Given the description of an element on the screen output the (x, y) to click on. 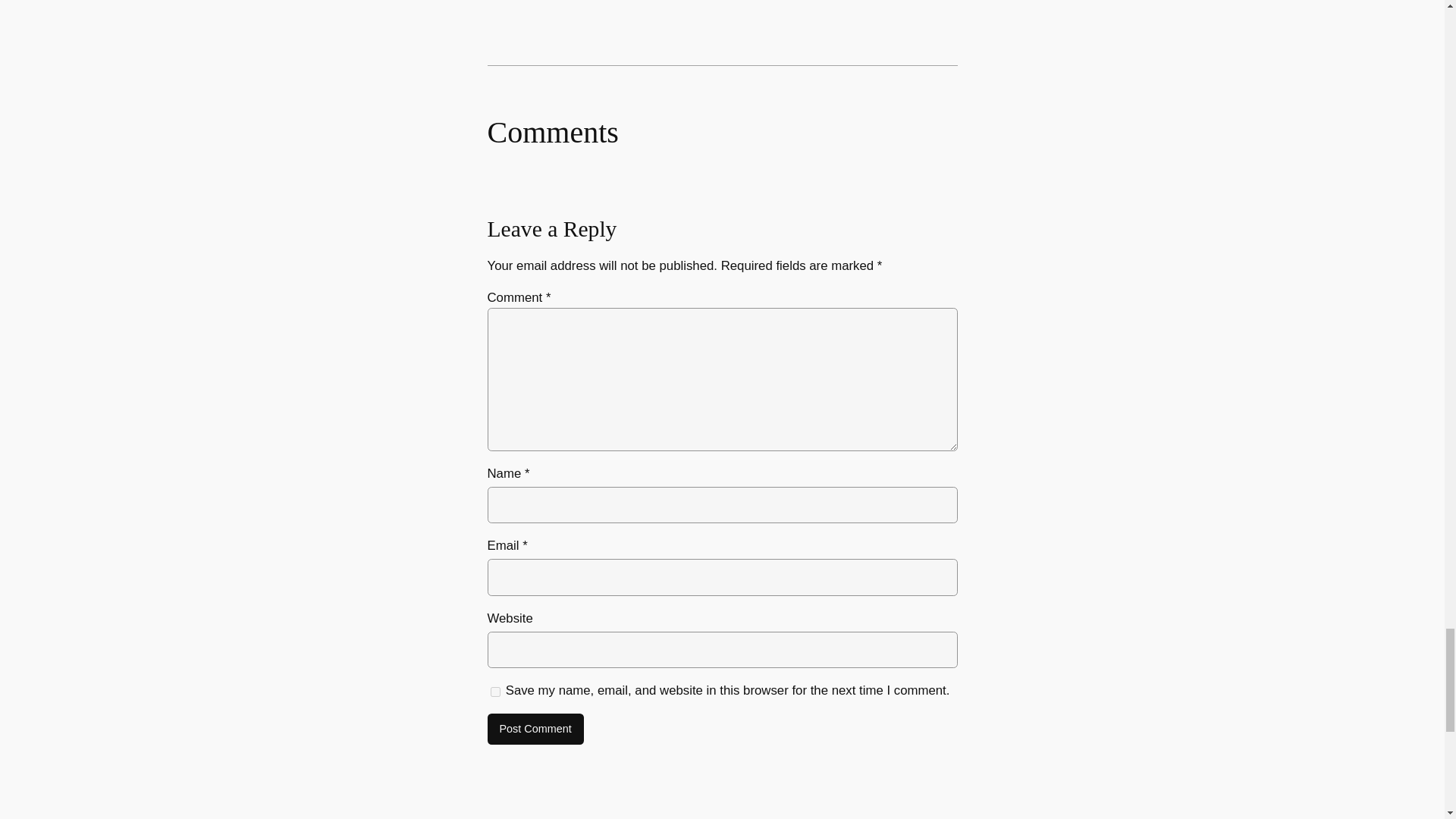
Post Comment (534, 729)
Post Comment (534, 729)
